Given the description of an element on the screen output the (x, y) to click on. 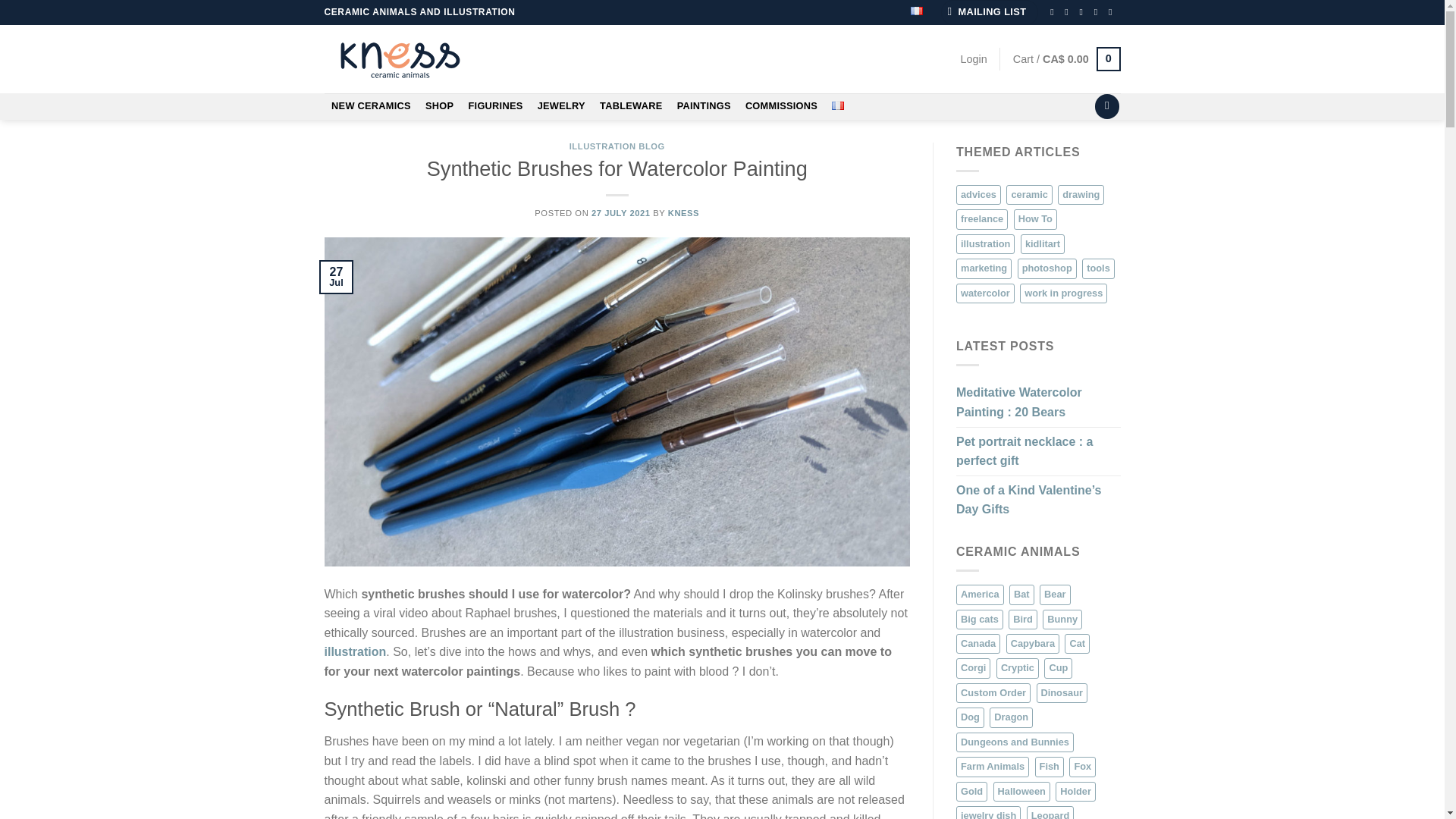
Mailing list (989, 12)
SHOP (438, 105)
Cart (1067, 58)
FIGURINES (495, 105)
ILLUSTRATION BLOG (617, 145)
COMMISSIONS (781, 105)
TABLEWARE (630, 105)
illustration (355, 651)
Login (973, 58)
JEWELRY (560, 105)
PAINTINGS (703, 105)
NEW CERAMICS (371, 105)
Login (973, 58)
MAILING LIST (989, 12)
KNESS (683, 212)
